Given the description of an element on the screen output the (x, y) to click on. 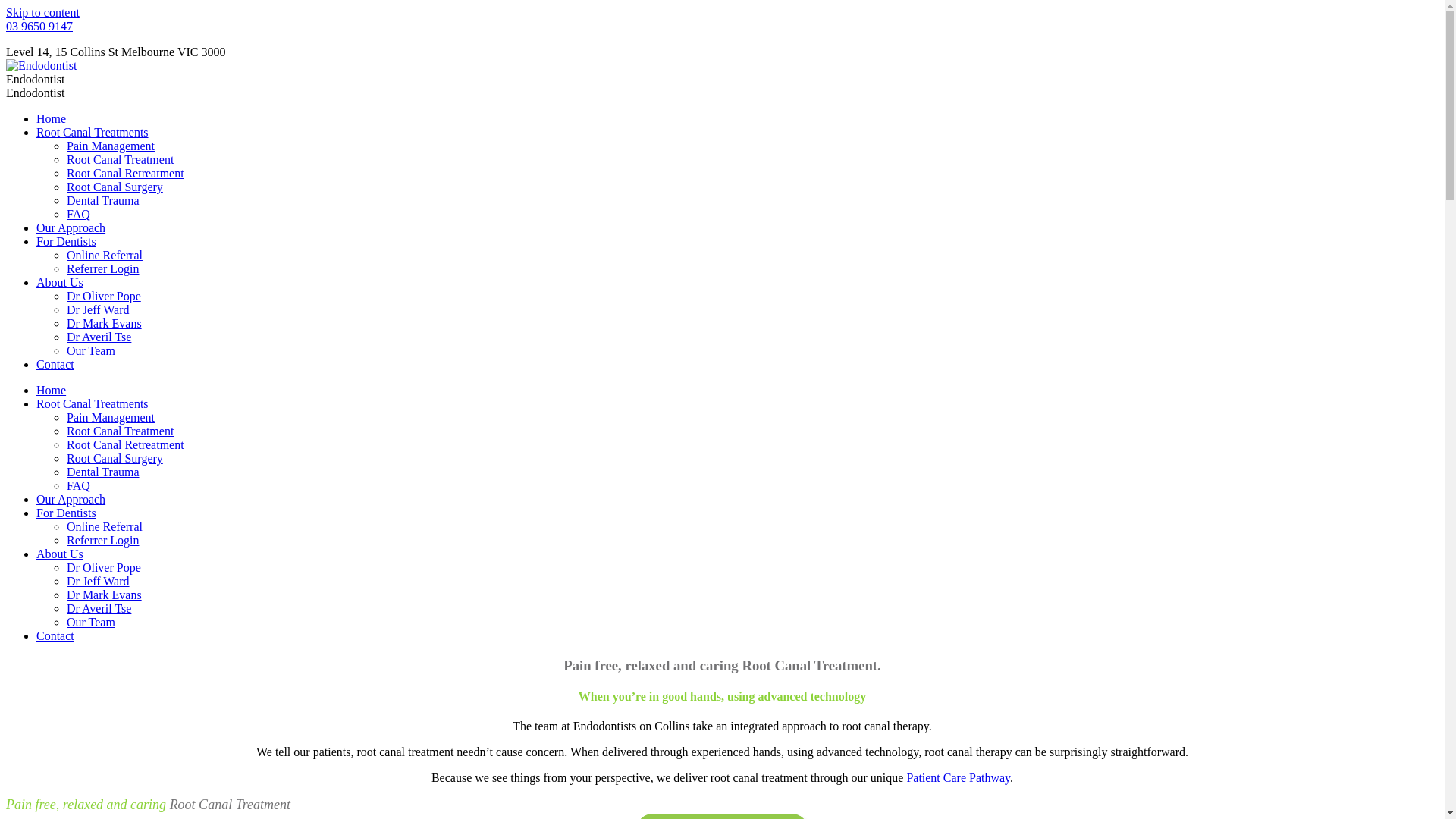
Online Referral Element type: text (104, 254)
Root Canal Treatment Element type: text (119, 159)
Root Canal Treatments Element type: text (92, 131)
Root Canal Surgery Element type: text (114, 457)
Root Canal Surgery Element type: text (114, 186)
Dr Jeff Ward Element type: text (97, 580)
Home Element type: text (50, 118)
Our Team Element type: text (90, 621)
For Dentists Element type: text (66, 241)
Dr Oliver Pope Element type: text (103, 295)
Patient Care Pathway Element type: text (958, 777)
Dr Jeff Ward Element type: text (97, 309)
Dr Mark Evans Element type: text (103, 594)
Root Canal Retreatment Element type: text (125, 444)
03 9650 9147 Element type: text (39, 25)
Dr Oliver Pope Element type: text (103, 567)
Contact Element type: text (55, 635)
Home Element type: text (50, 389)
Root Canal Treatment Element type: text (119, 430)
Referrer Login Element type: text (102, 539)
Pain Management Element type: text (110, 145)
Our Approach Element type: text (70, 498)
Root Canal Retreatment Element type: text (125, 172)
FAQ Element type: text (78, 485)
Dental Trauma Element type: text (102, 471)
Pain Management Element type: text (110, 417)
Dental Trauma Element type: text (102, 200)
About Us Element type: text (59, 282)
For Dentists Element type: text (66, 512)
Dr Averil Tse Element type: text (98, 608)
Our Team Element type: text (90, 350)
Our Approach Element type: text (70, 227)
Contact Element type: text (55, 363)
Dr Averil Tse Element type: text (98, 336)
Referrer Login Element type: text (102, 268)
Dr Mark Evans Element type: text (103, 322)
FAQ Element type: text (78, 213)
Skip to content Element type: text (42, 12)
Online Referral Element type: text (104, 526)
Root Canal Treatments Element type: text (92, 403)
About Us Element type: text (59, 553)
